Given the description of an element on the screen output the (x, y) to click on. 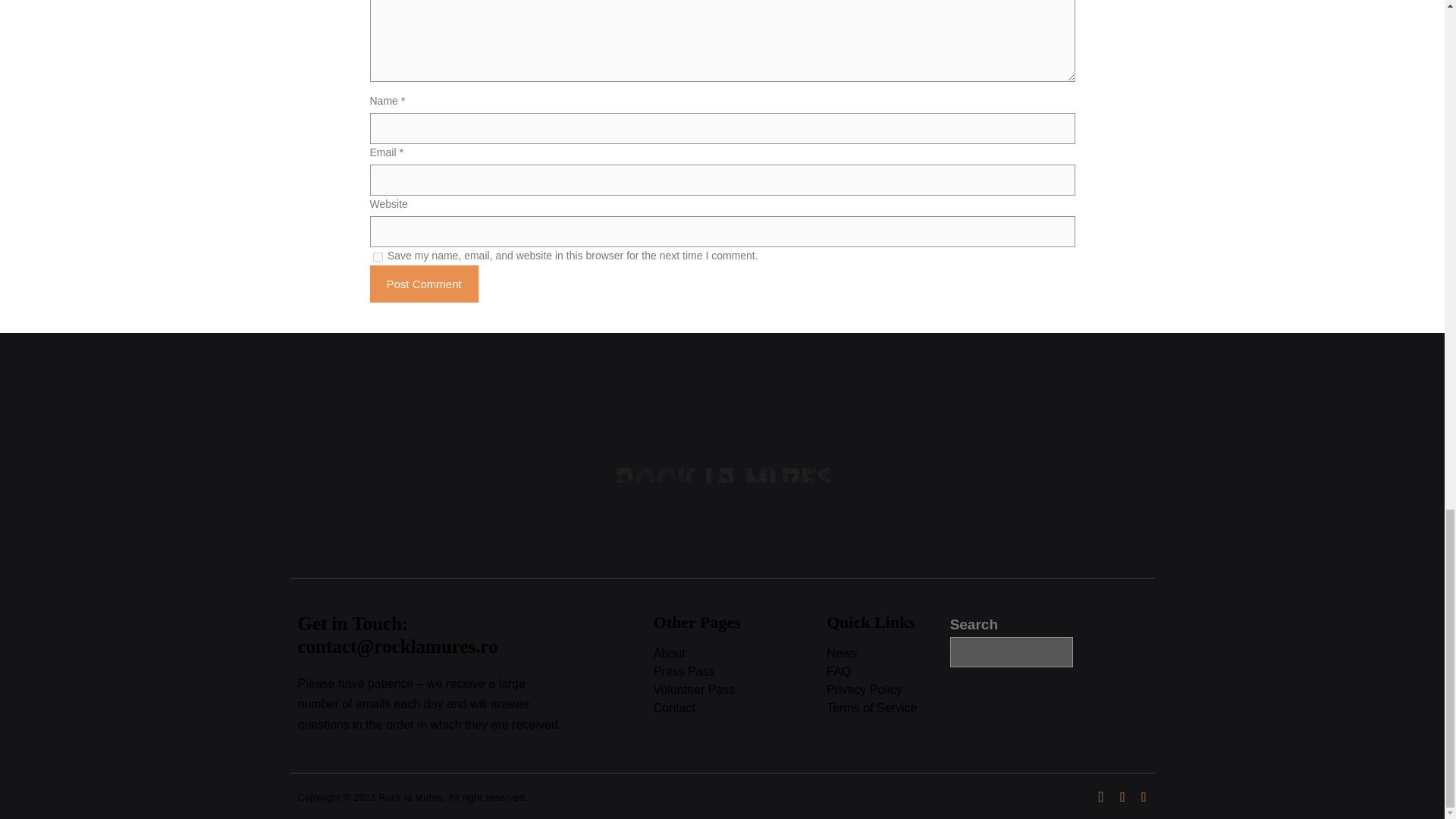
Post Comment (424, 284)
Press Pass (740, 671)
Contact (740, 707)
FAQ (888, 671)
News (888, 653)
Privacy Policy (888, 689)
Terms of Service (888, 707)
Post Comment (424, 284)
About (740, 653)
Volunteer Pass (740, 689)
